Given the description of an element on the screen output the (x, y) to click on. 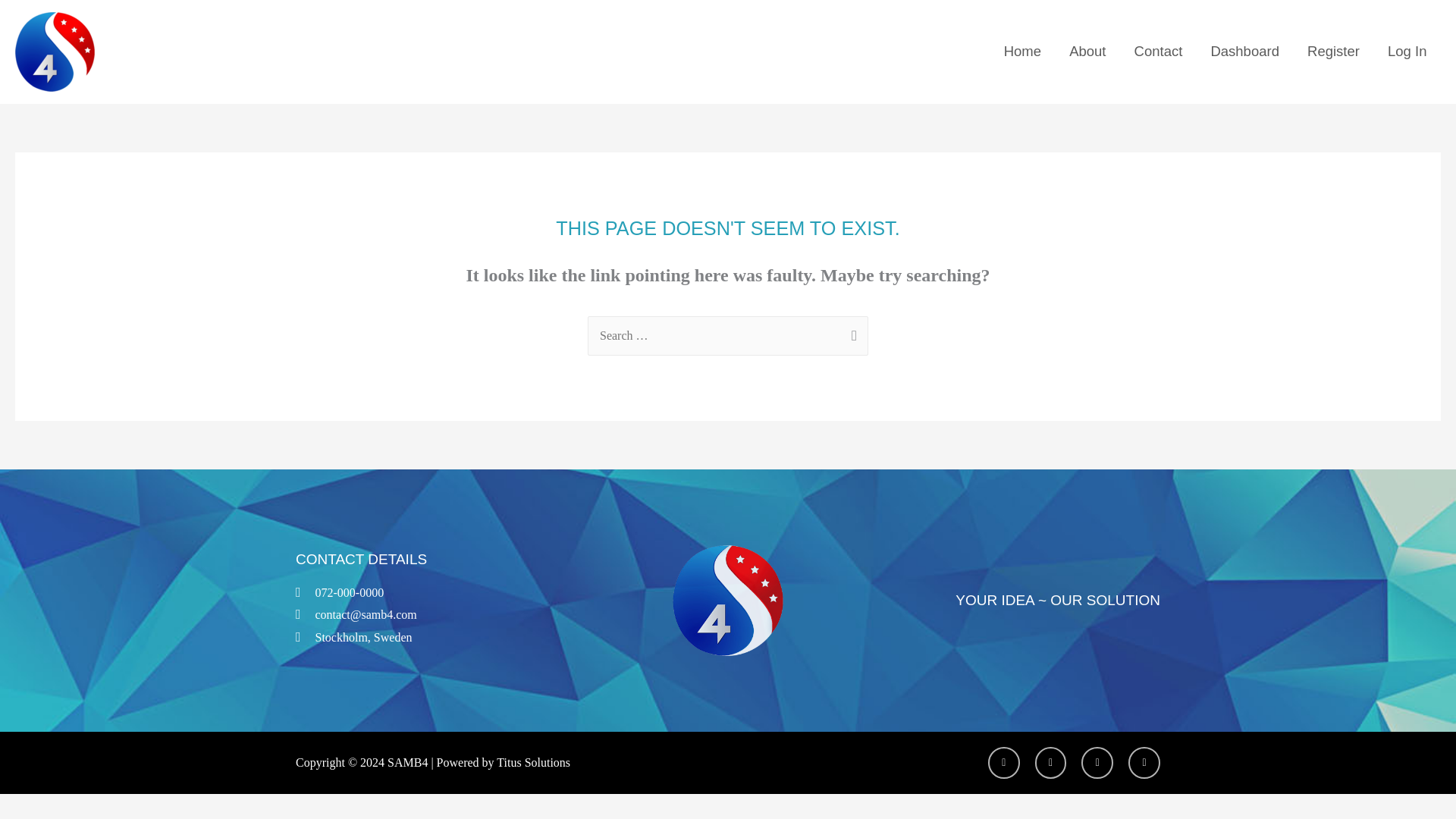
Search (850, 333)
Dashboard (1245, 51)
Register (1334, 51)
About (1087, 51)
072-000-0000 (439, 592)
Search (850, 333)
Home (1022, 51)
Log In (1407, 51)
Search (850, 333)
Contact (1157, 51)
Stockholm, Sweden (439, 637)
